Given the description of an element on the screen output the (x, y) to click on. 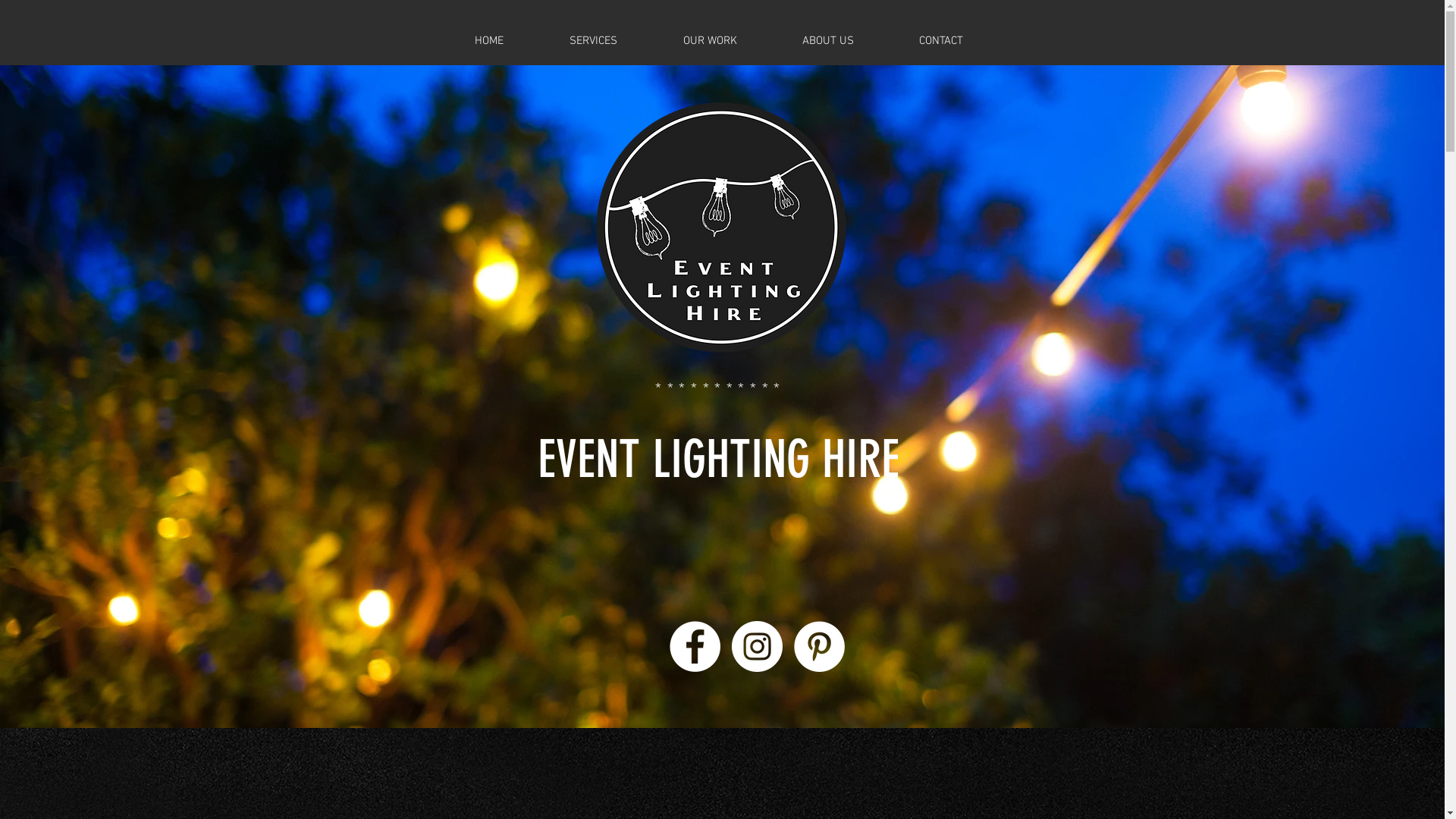
ABOUT US Element type: text (826, 40)
OUR WORK Element type: text (709, 40)
EVENT LIGHTING HIRE Element type: text (718, 458)
ELH2a.png Element type: hover (720, 227)
SERVICES Element type: text (593, 40)
CONTACT Element type: text (939, 40)
HOME Element type: text (488, 40)
